Given the description of an element on the screen output the (x, y) to click on. 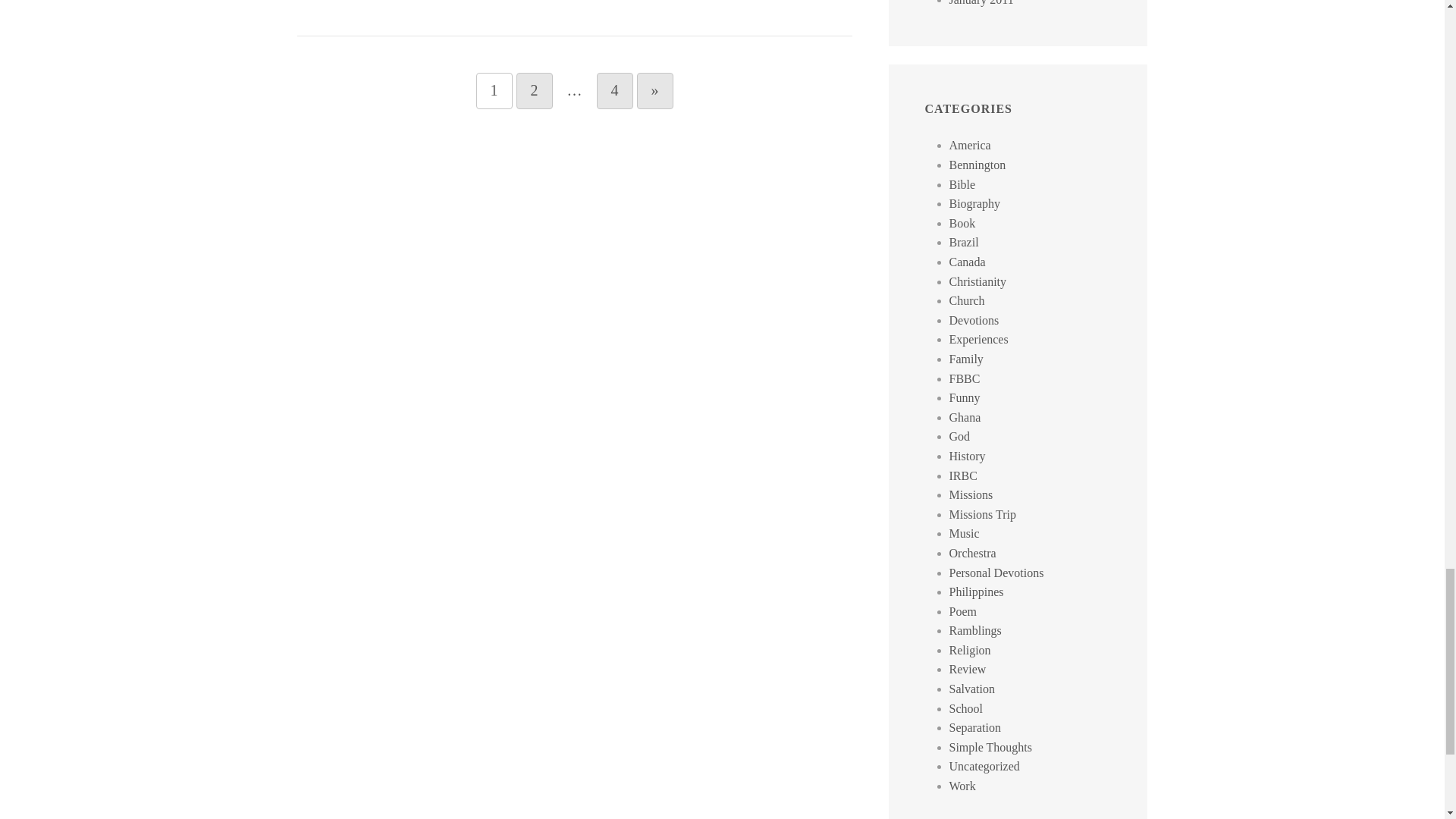
4 (613, 90)
2 (533, 90)
